Given the description of an element on the screen output the (x, y) to click on. 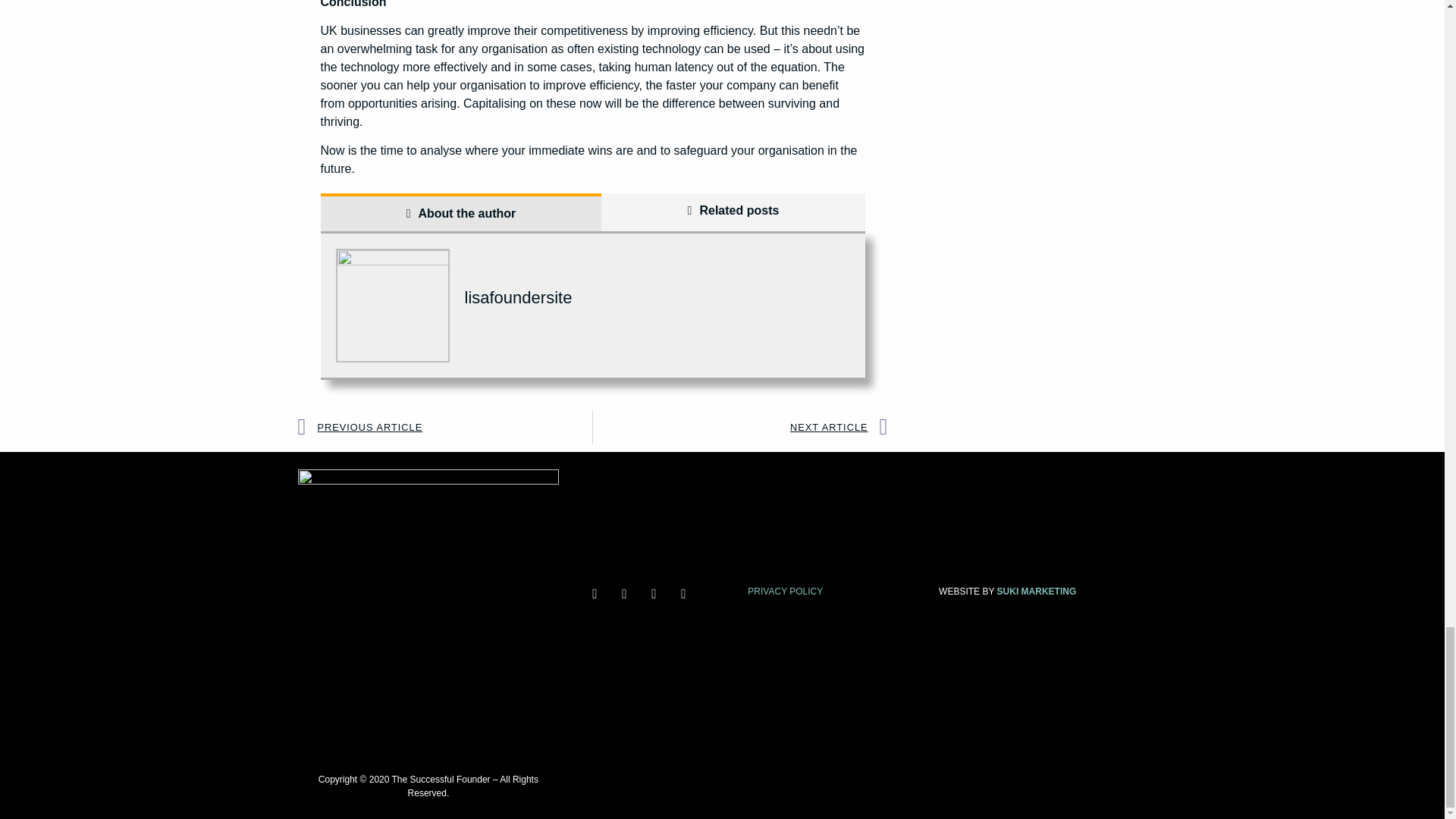
lisafoundersite (518, 297)
